Given the description of an element on the screen output the (x, y) to click on. 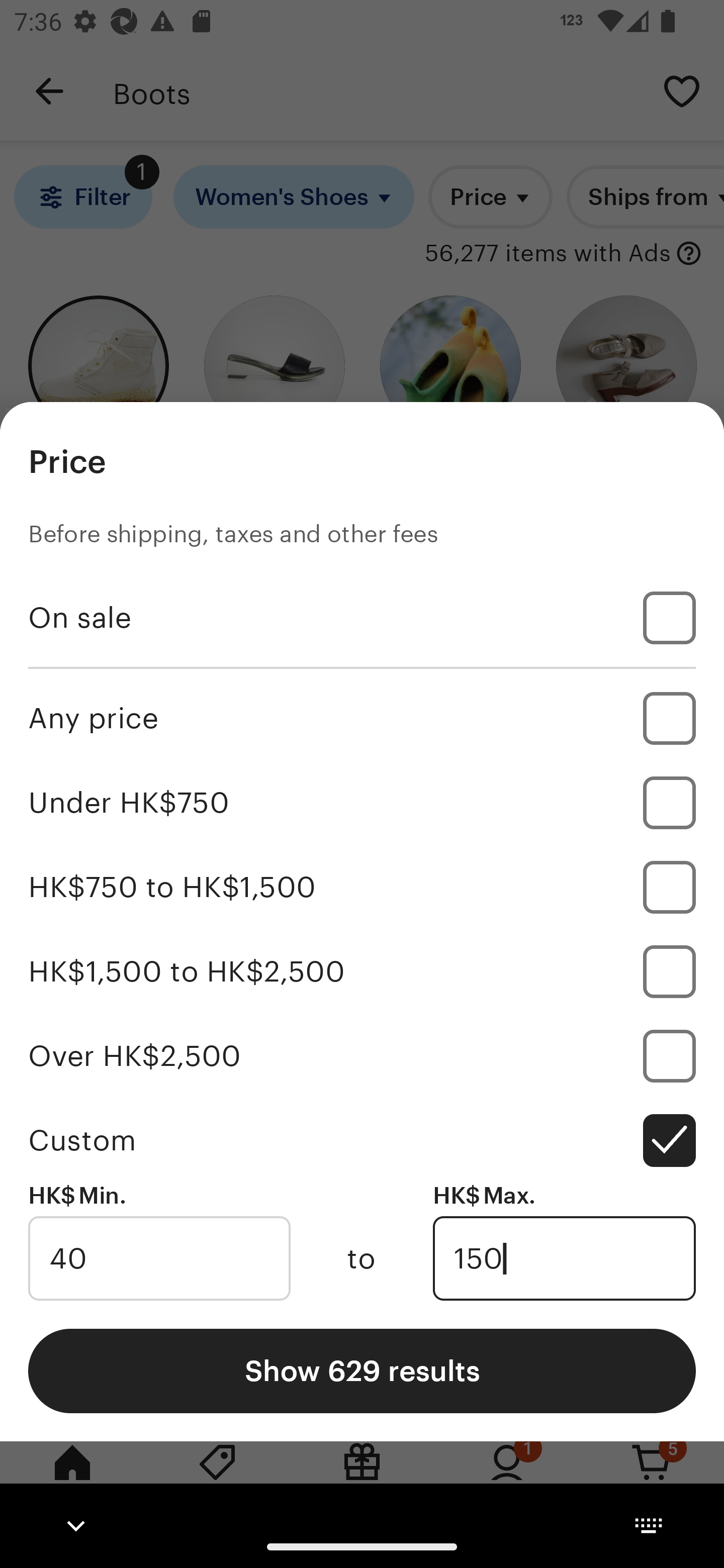
On sale (362, 617)
Any price (362, 717)
Under HK$750 (362, 802)
HK$750 to HK$1,500 (362, 887)
HK$1,500 to HK$2,500 (362, 970)
Over HK$2,500 (362, 1054)
Custom (362, 1139)
40 (159, 1257)
150 (563, 1257)
Show 629 results (361, 1370)
